Given the description of an element on the screen output the (x, y) to click on. 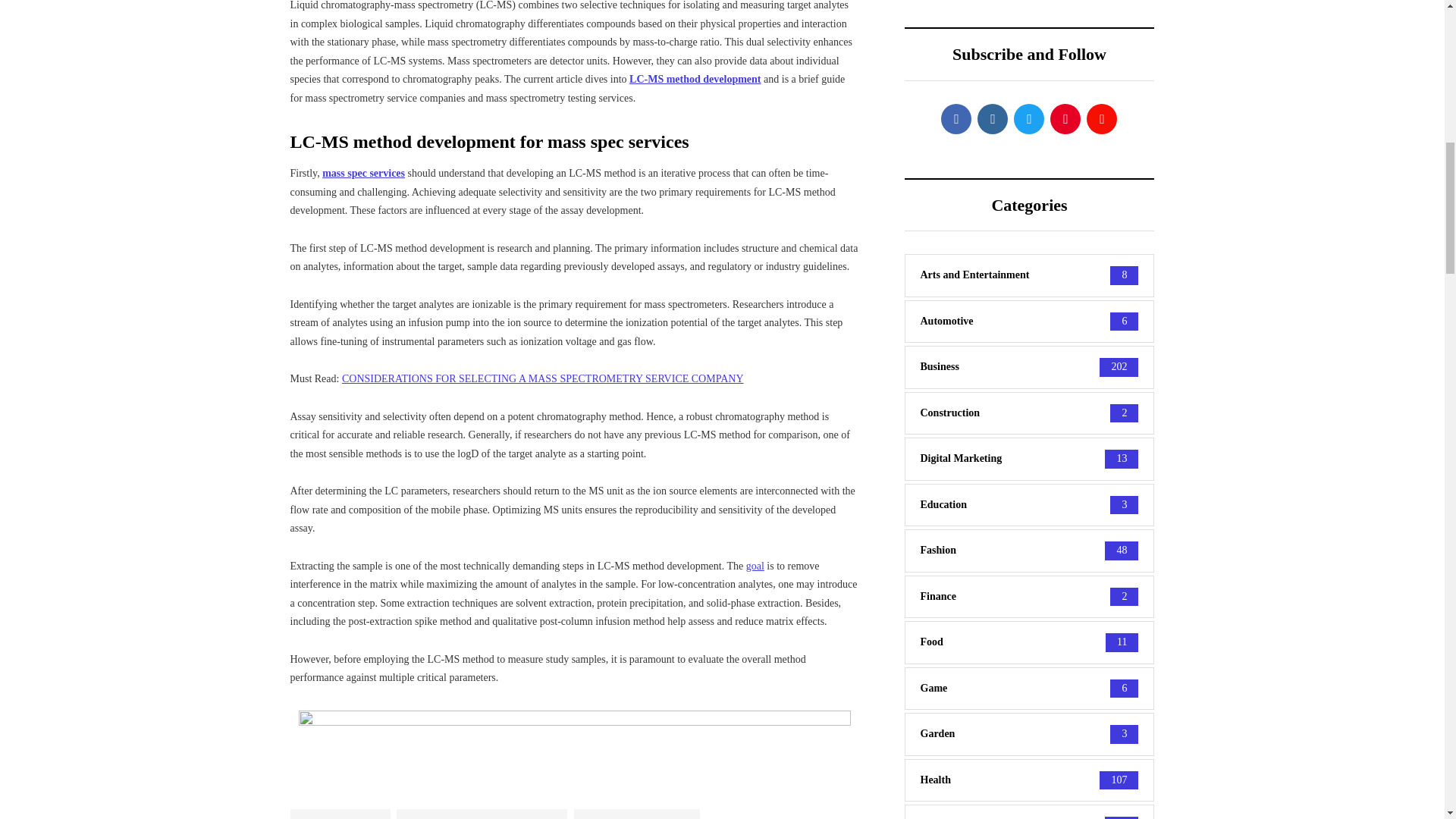
LC-MS method development (694, 79)
goal (754, 564)
mass spec services (362, 173)
